Given the description of an element on the screen output the (x, y) to click on. 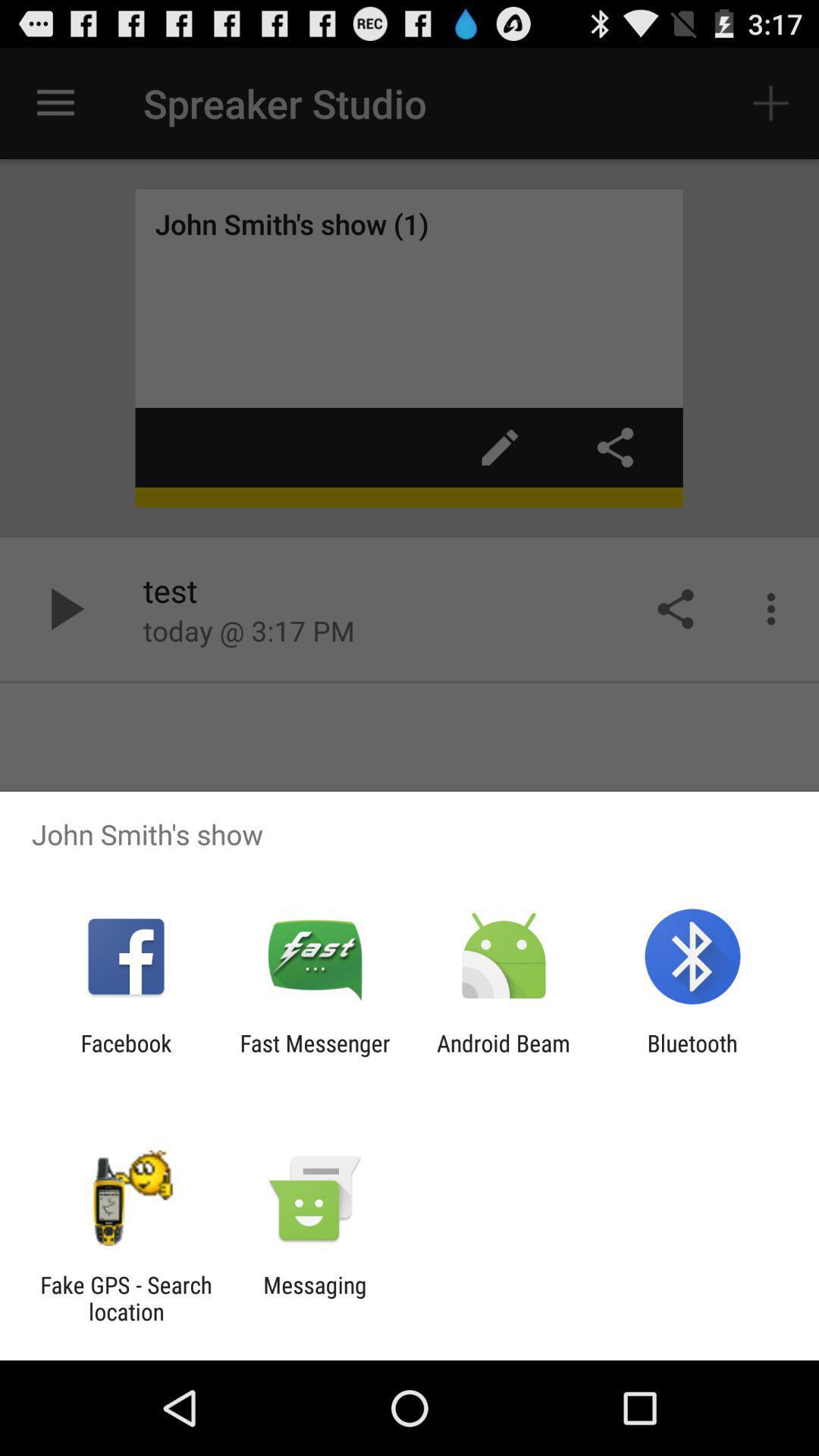
turn on fast messenger item (315, 1056)
